Given the description of an element on the screen output the (x, y) to click on. 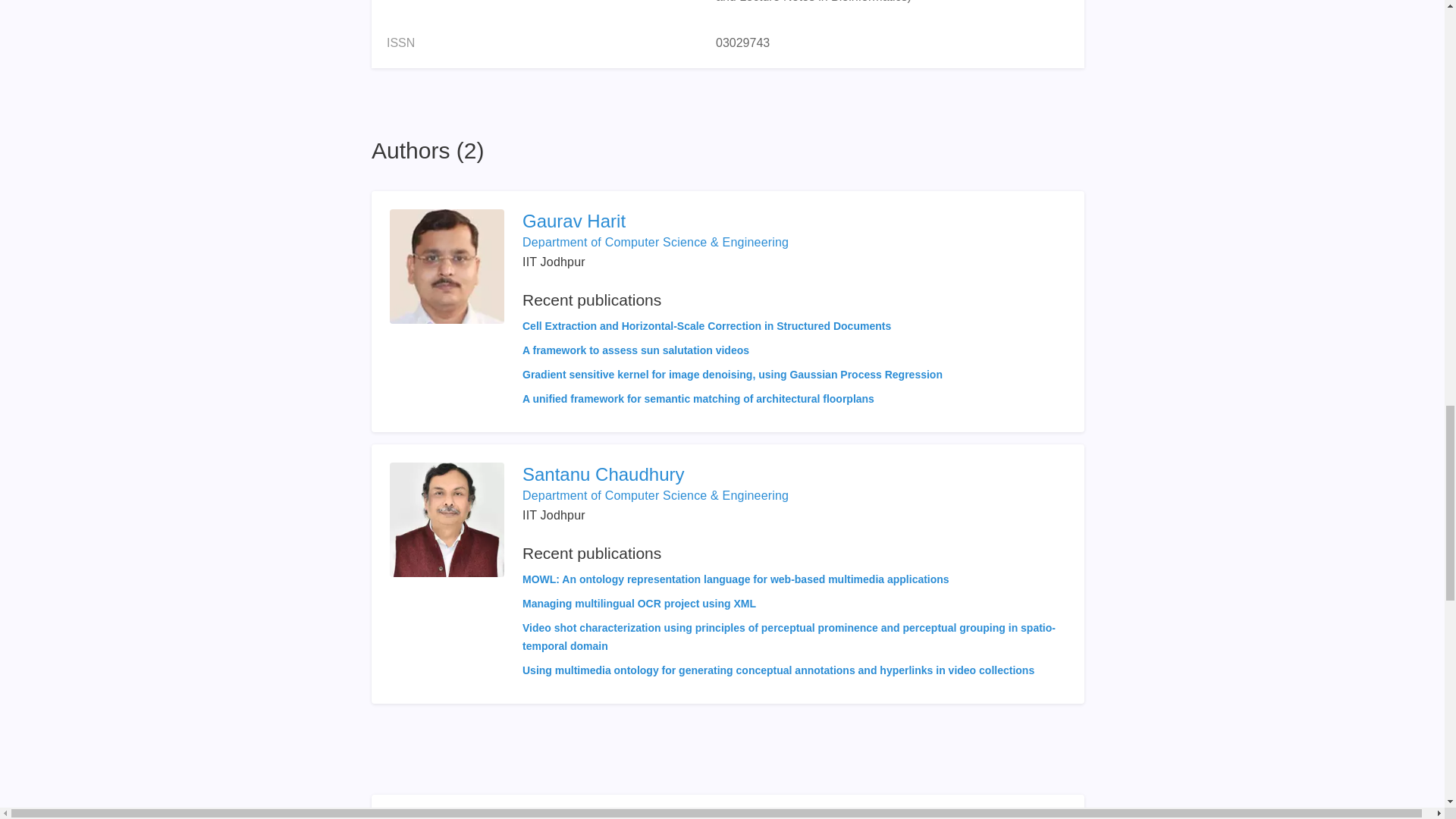
Subscribe form hero illustration (448, 816)
Managing multilingual OCR project using XML (638, 603)
Gaurav Harit (732, 221)
A framework to assess sun salutation videos (635, 349)
Santanu Chaudhury (793, 474)
